Given the description of an element on the screen output the (x, y) to click on. 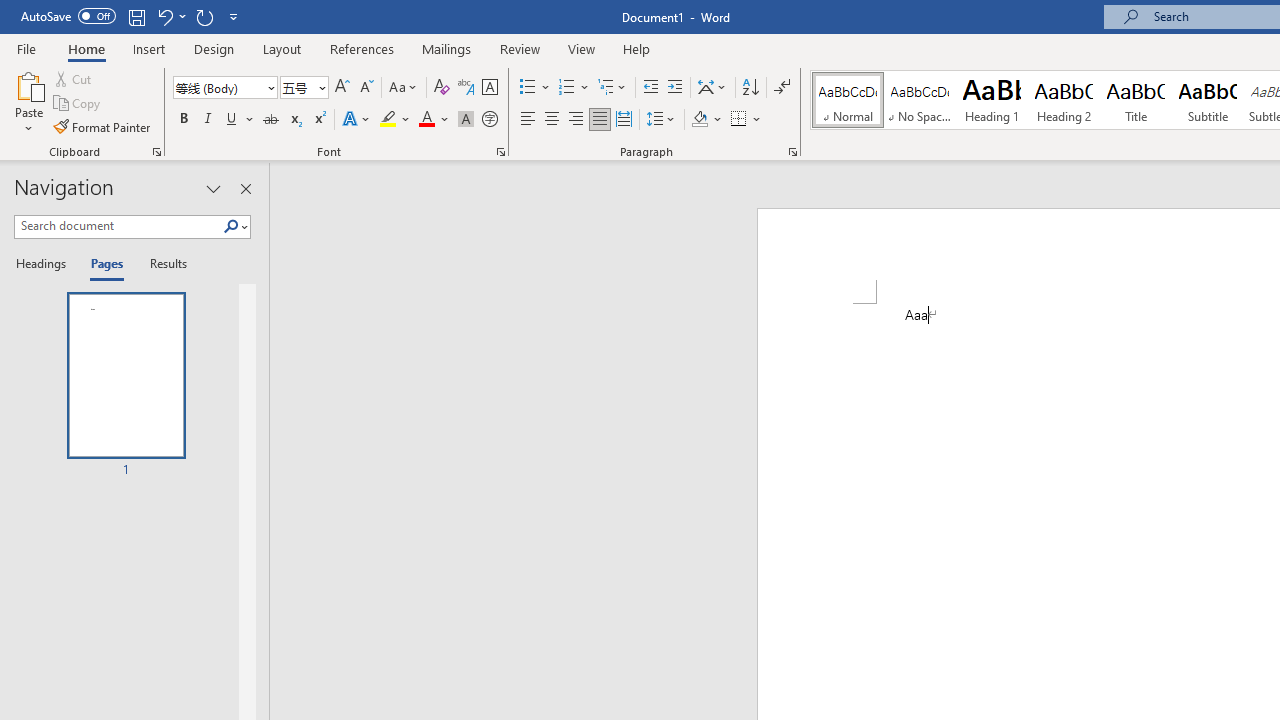
Font Color Red (426, 119)
